Given the description of an element on the screen output the (x, y) to click on. 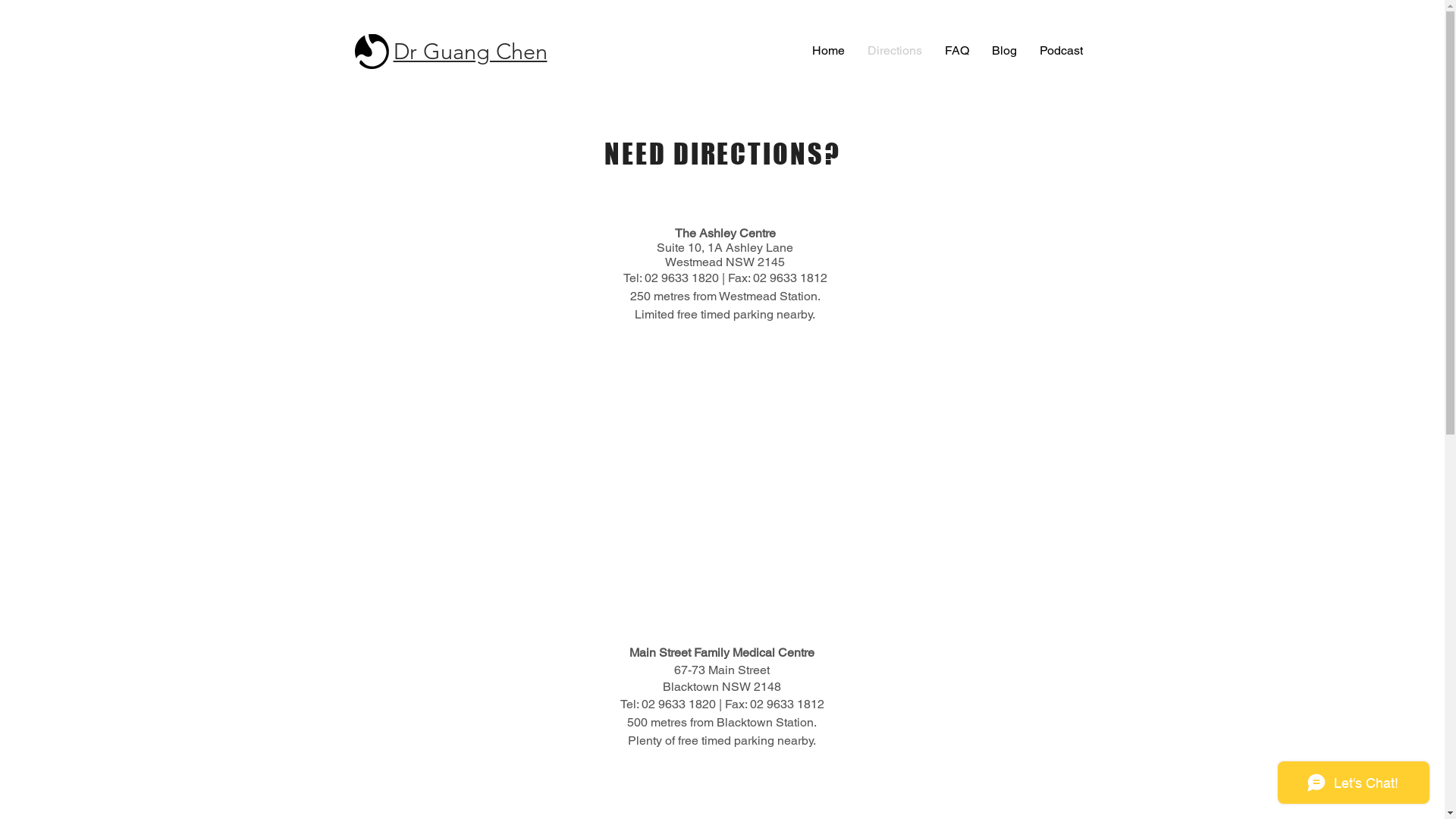
Directions Element type: text (893, 49)
Blog Element type: text (1003, 49)
Dr Guang Chen Element type: text (469, 51)
FAQ Element type: text (955, 49)
Google Maps Element type: hover (722, 492)
Home Element type: text (828, 49)
Podcast Element type: text (1061, 49)
